Given the description of an element on the screen output the (x, y) to click on. 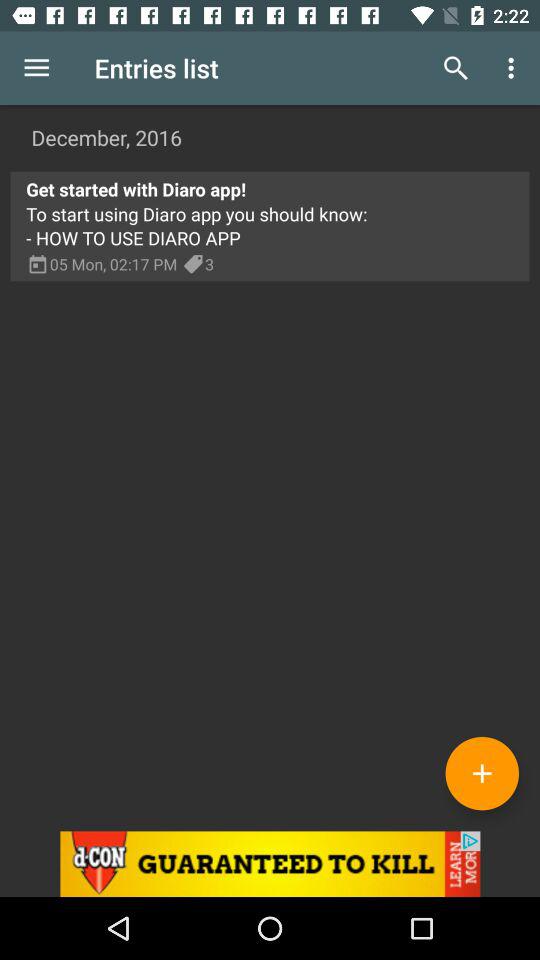
advertisement banner (270, 864)
